Given the description of an element on the screen output the (x, y) to click on. 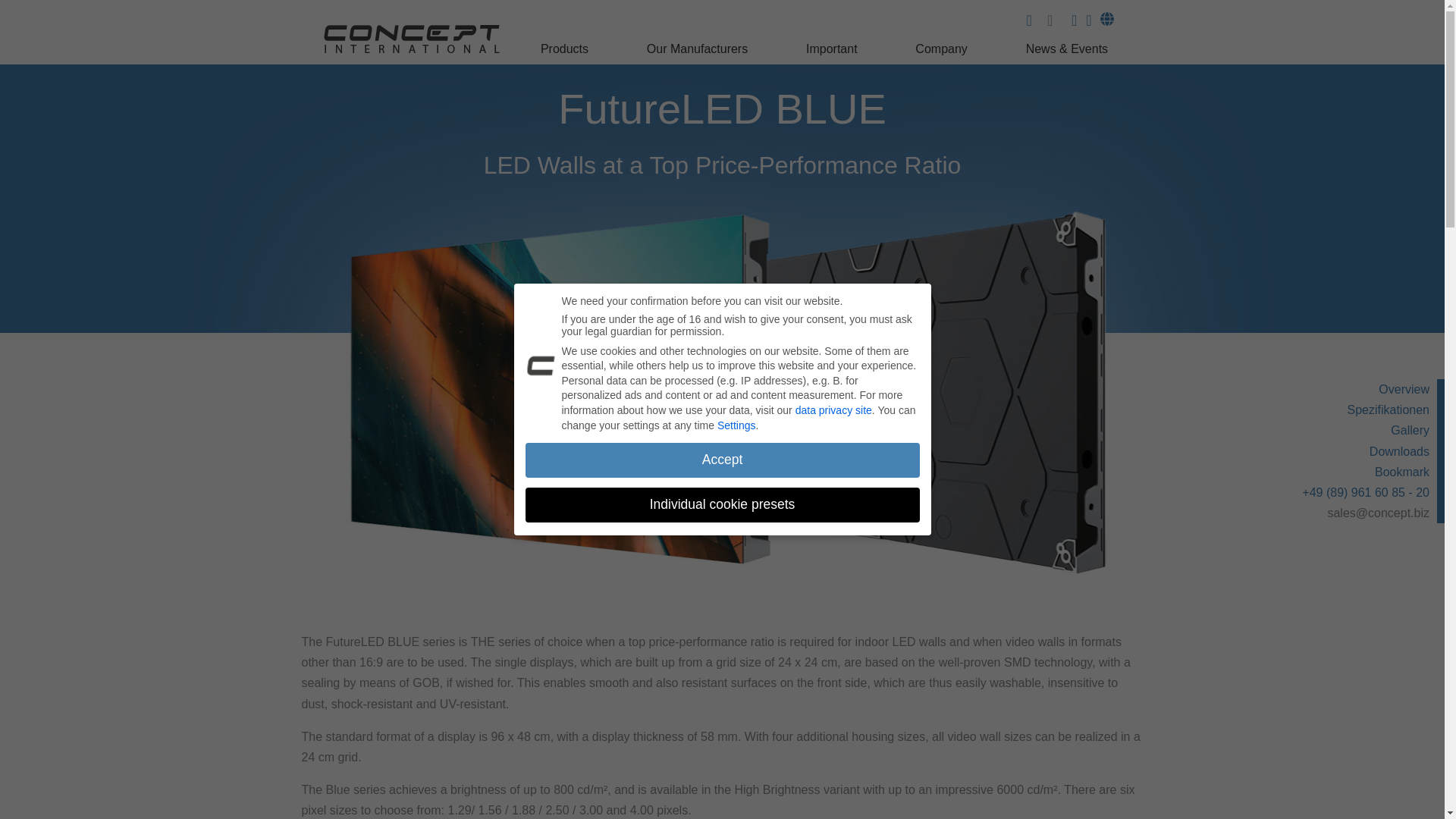
Company (943, 52)
Important (833, 52)
Our Manufacturers (699, 52)
Products (566, 52)
